Given the description of an element on the screen output the (x, y) to click on. 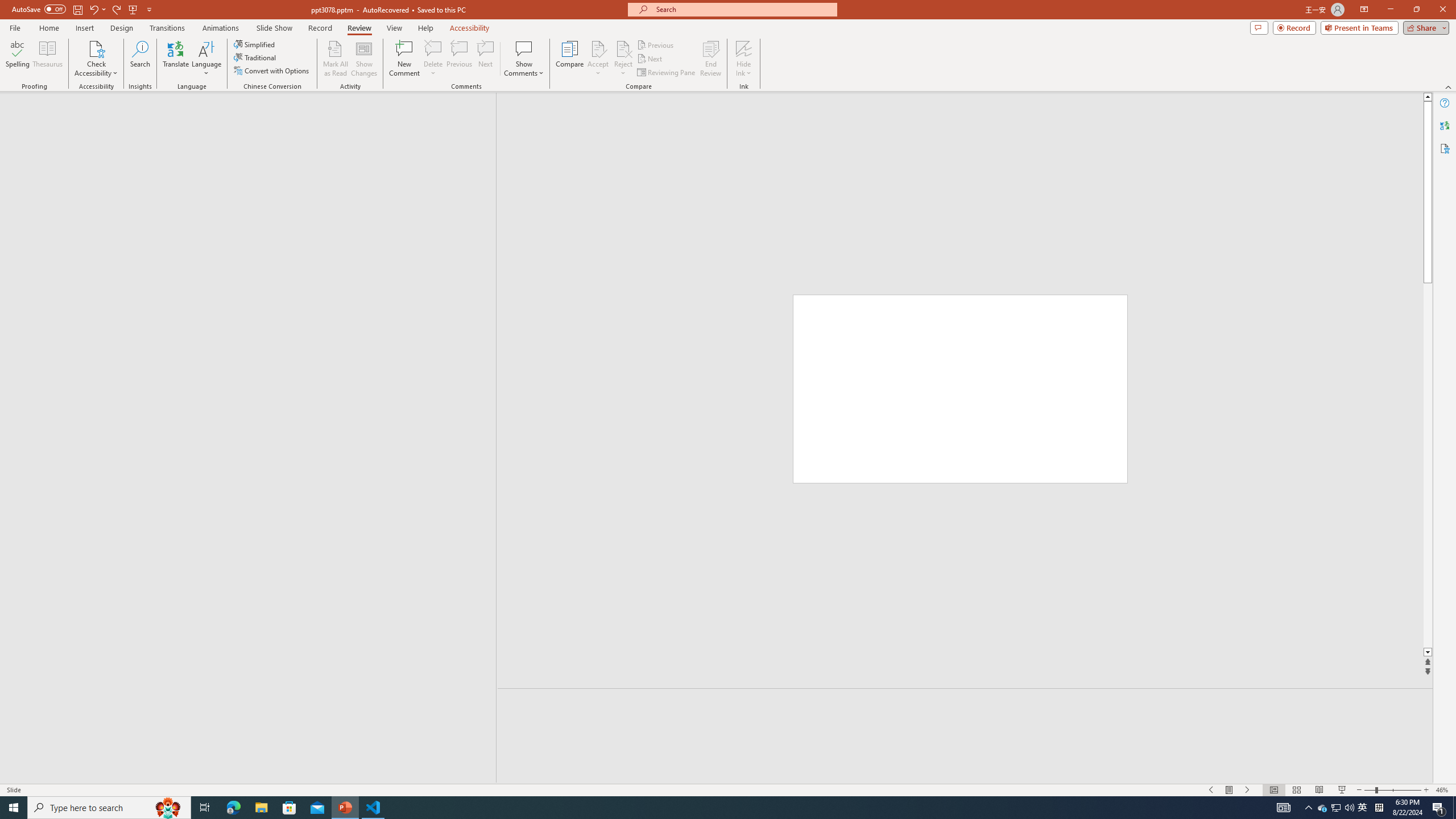
Zoom 46% (1443, 790)
Mark All as Read (335, 58)
Compare (569, 58)
Accept (598, 58)
